Given the description of an element on the screen output the (x, y) to click on. 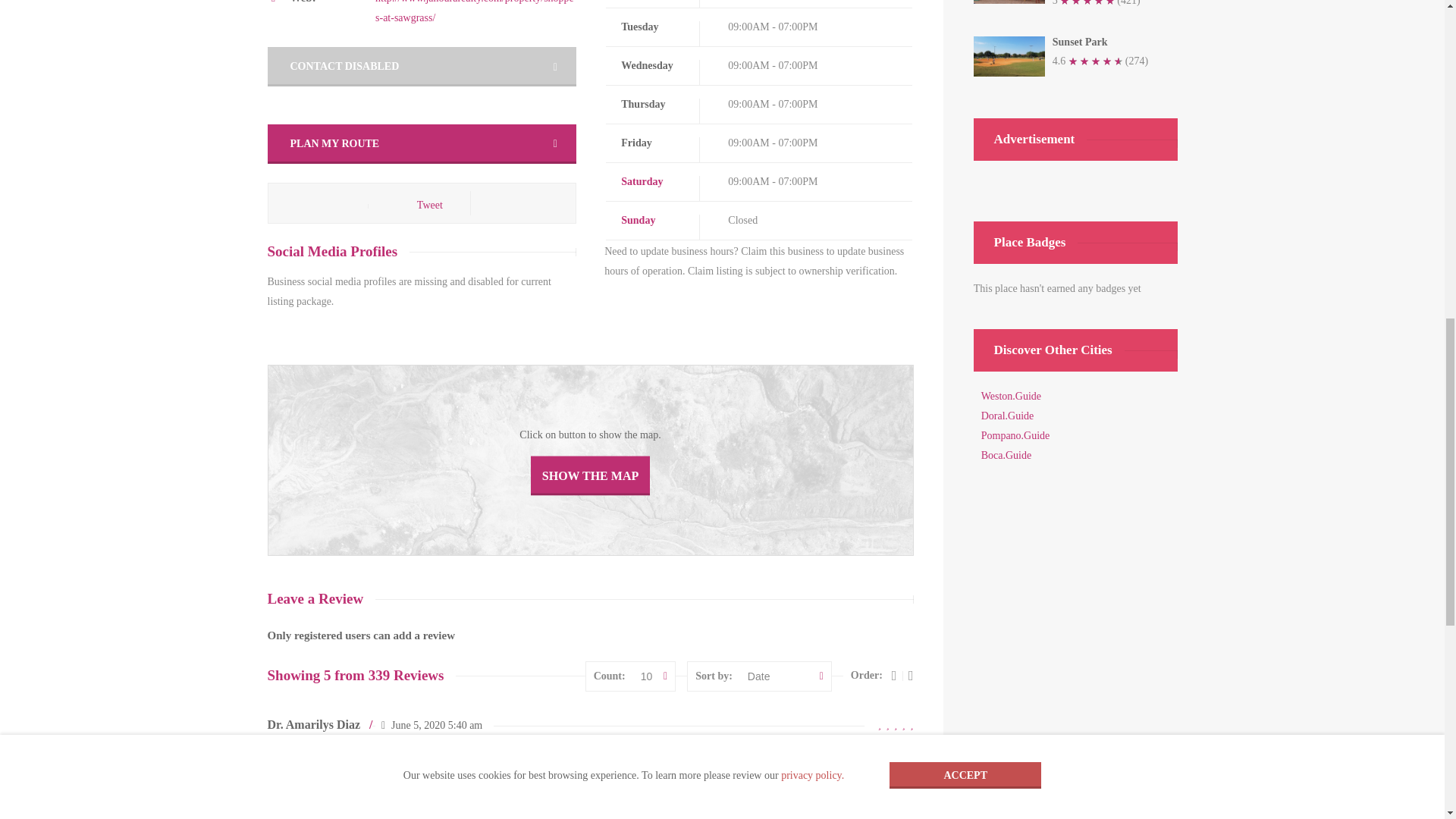
ASC (911, 675)
CONTACT DISABLED (420, 66)
DESC (893, 675)
PLAN MY ROUTE (420, 143)
